Given the description of an element on the screen output the (x, y) to click on. 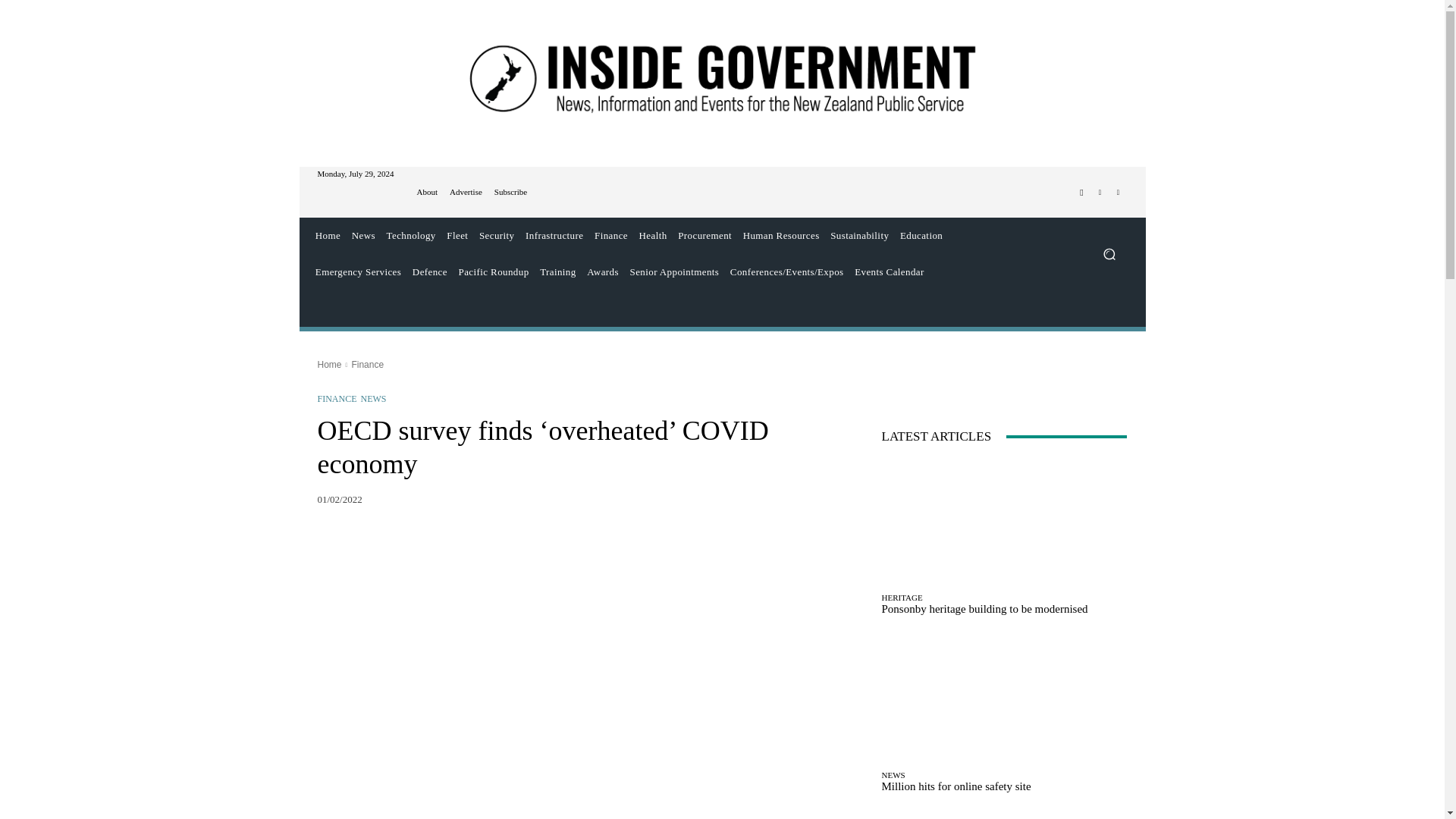
Fleet (457, 235)
Subscribe (511, 192)
Twitter (1099, 192)
Sustainability (860, 235)
Linkedin (1117, 192)
Human Resources (780, 235)
Technology (410, 235)
About (427, 192)
Security (496, 235)
View all posts in Finance (367, 364)
Advertise (465, 192)
News (363, 235)
Health (652, 235)
Ponsonby heritage building to be modernised (1003, 522)
Finance (611, 235)
